Given the description of an element on the screen output the (x, y) to click on. 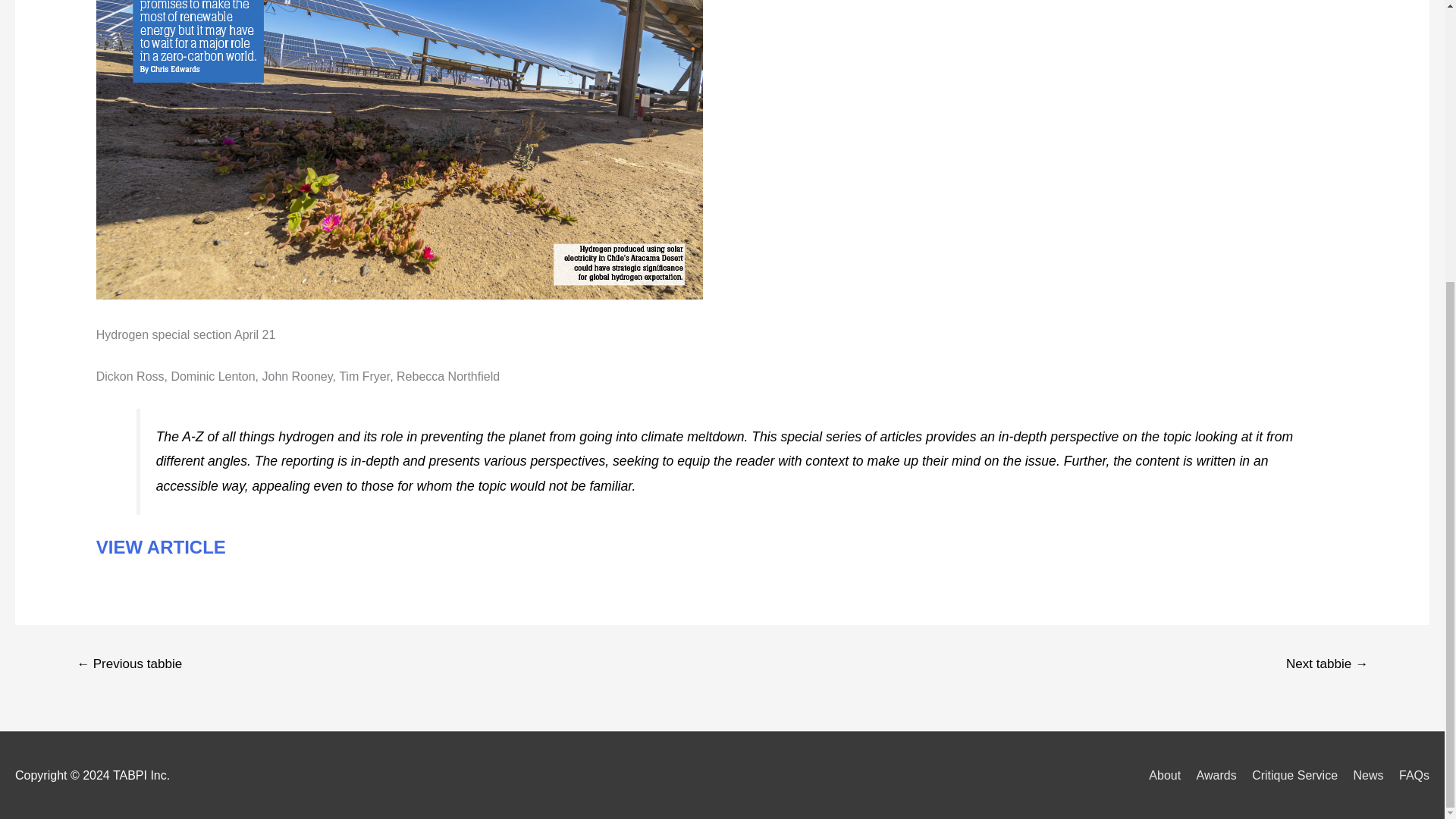
VIEW ARTICLE (160, 547)
